Given the description of an element on the screen output the (x, y) to click on. 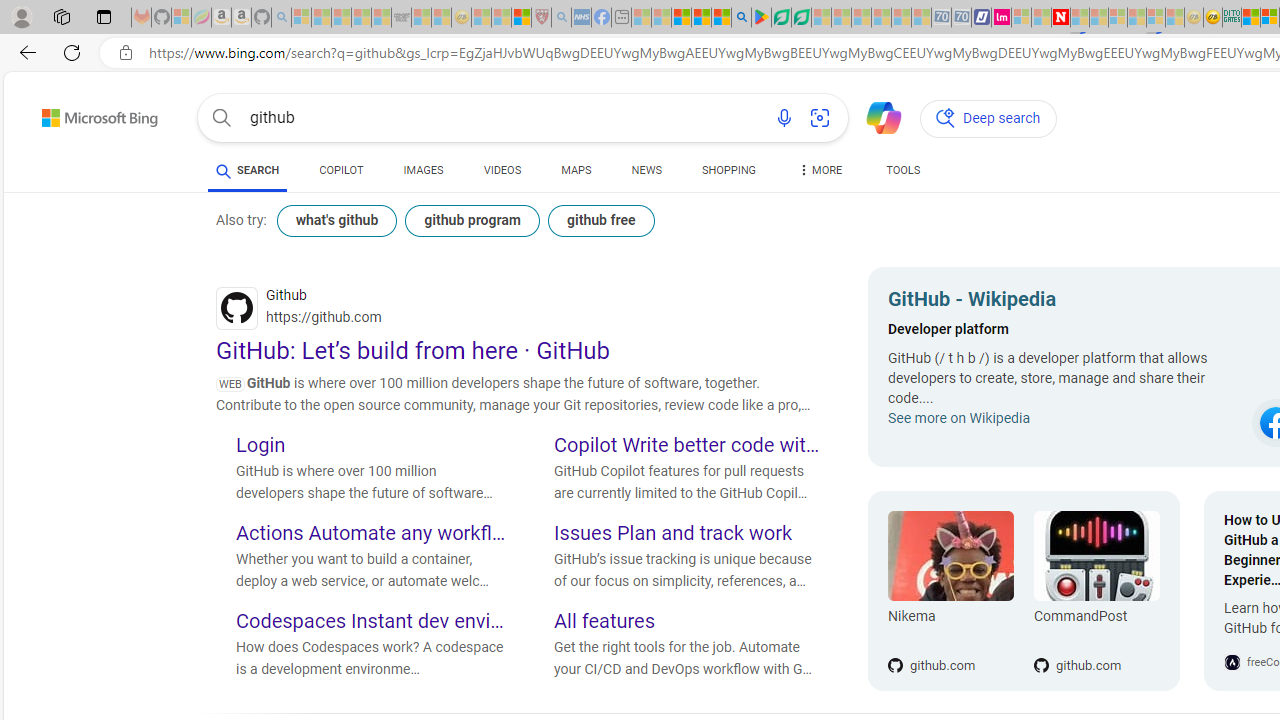
Search button (221, 117)
All features (689, 623)
COPILOT (341, 173)
Nikema (950, 619)
Jobs - lastminute.com Investor Portal (1001, 17)
Chat (875, 116)
MAPS (576, 173)
Github (520, 308)
